Given the description of an element on the screen output the (x, y) to click on. 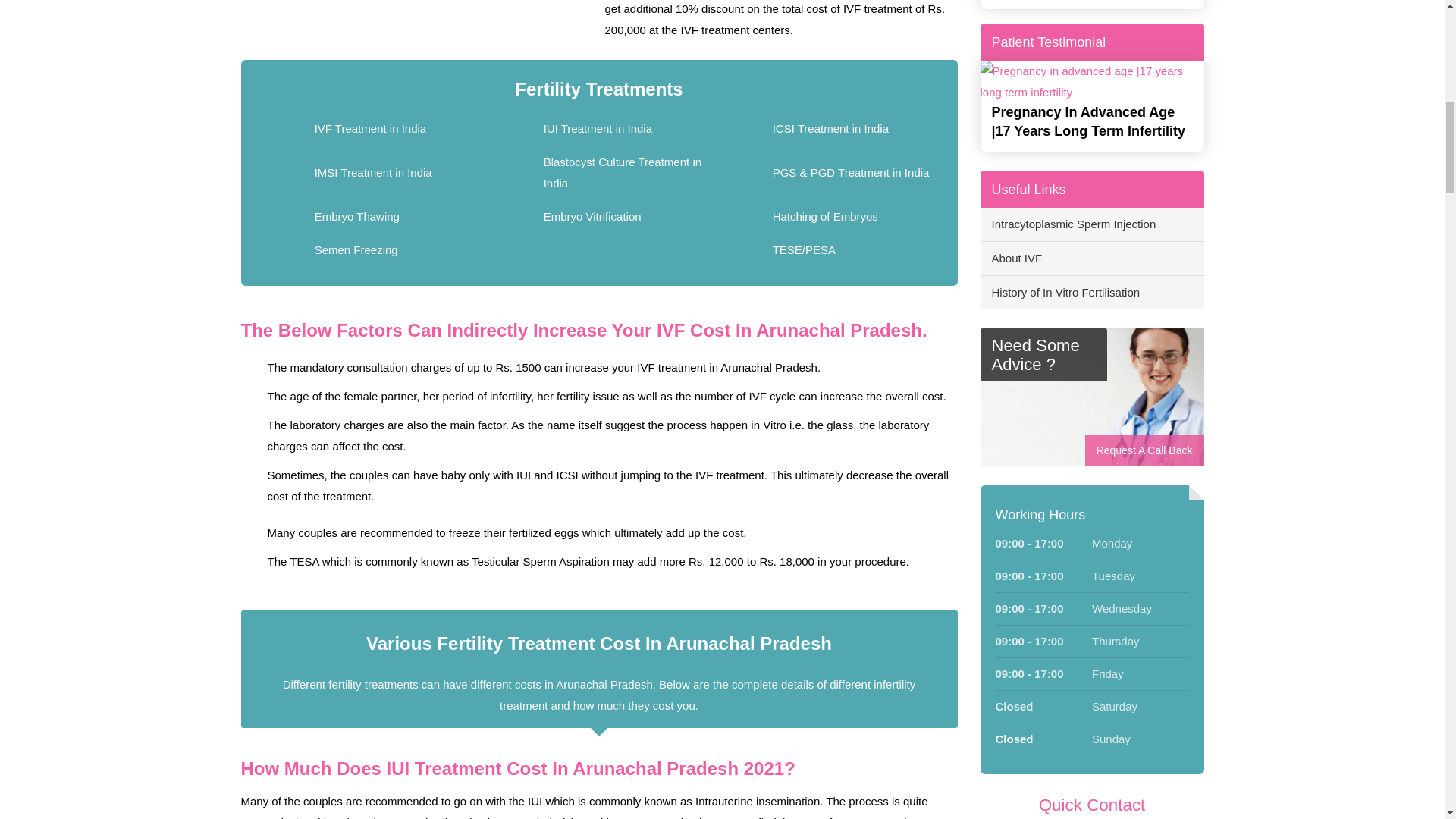
Request a Call Back (1091, 399)
